Given the description of an element on the screen output the (x, y) to click on. 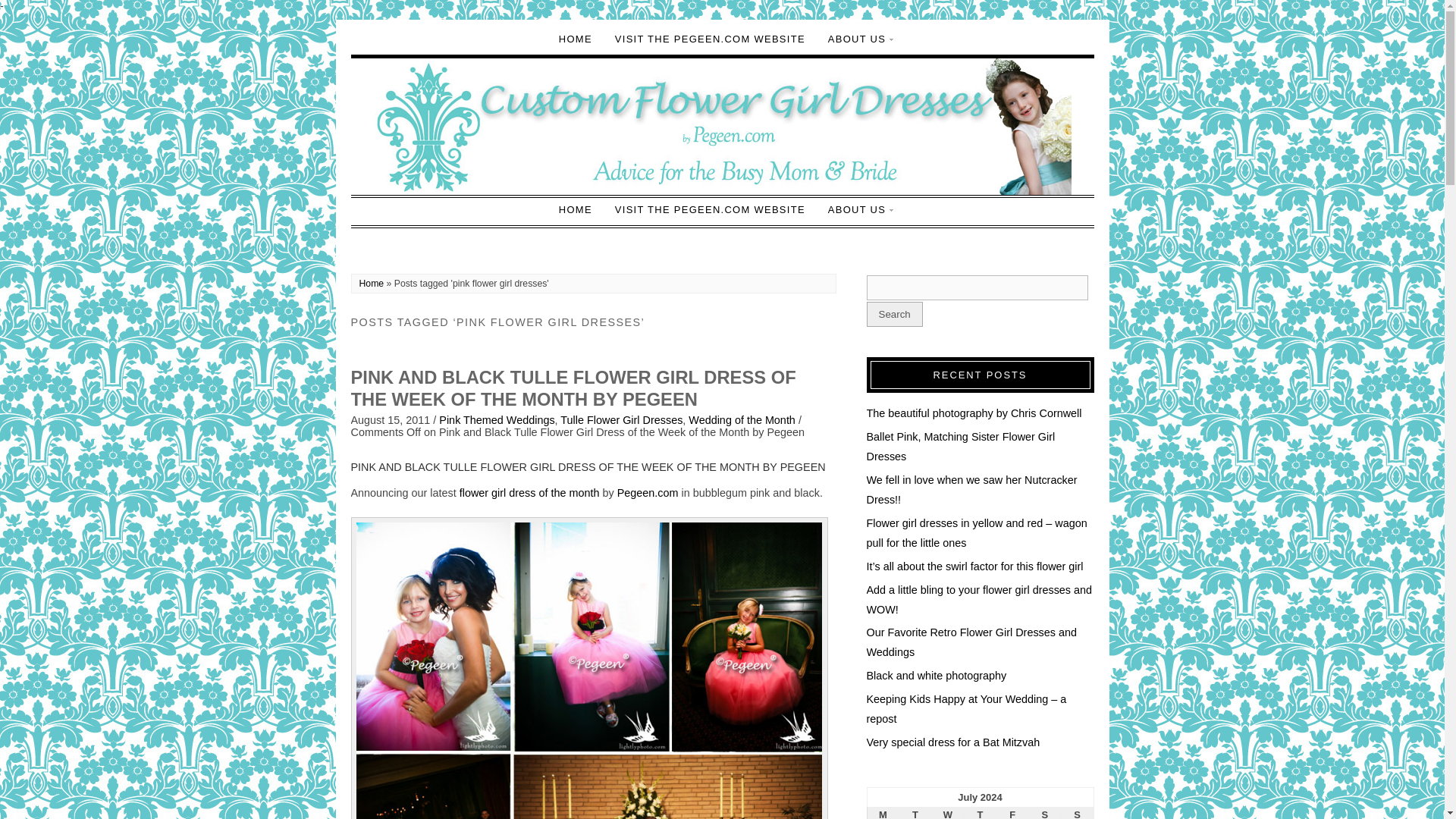
Home (371, 283)
ABOUT US (856, 210)
HOME (575, 39)
VISIT THE PEGEEN.COM WEBSITE (710, 210)
Flower Girl Dresses by Pegeen (647, 492)
ABOUT US (856, 39)
Tulle Flower Girl Dresses (621, 419)
flower girl dress of the month (529, 492)
Wedding of the Month (741, 419)
Pegeen.com (647, 492)
VISIT THE PEGEEN.COM WEBSITE (710, 39)
HOME (575, 210)
Pink Themed Weddings (496, 419)
